Given the description of an element on the screen output the (x, y) to click on. 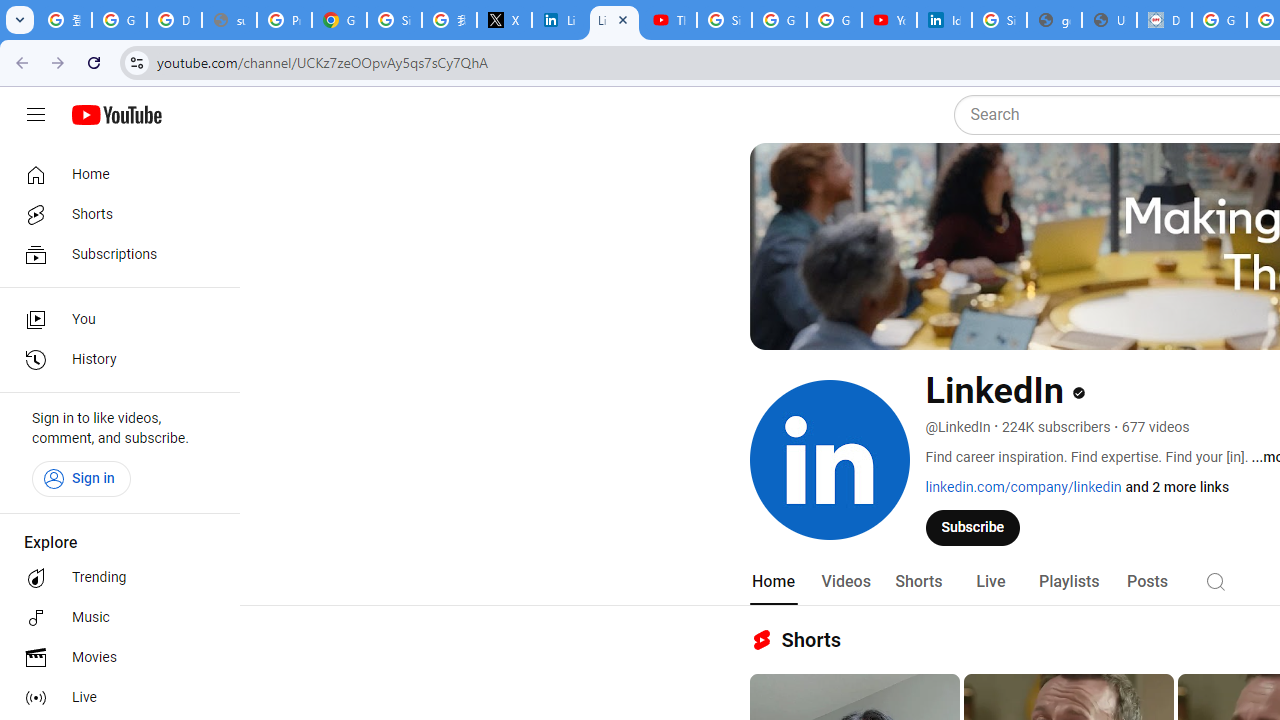
LinkedIn - YouTube (614, 20)
Subscribe (973, 527)
Data Privacy Framework (1163, 20)
Sign in - Google Accounts (724, 20)
Subscriptions (113, 254)
